Given the description of an element on the screen output the (x, y) to click on. 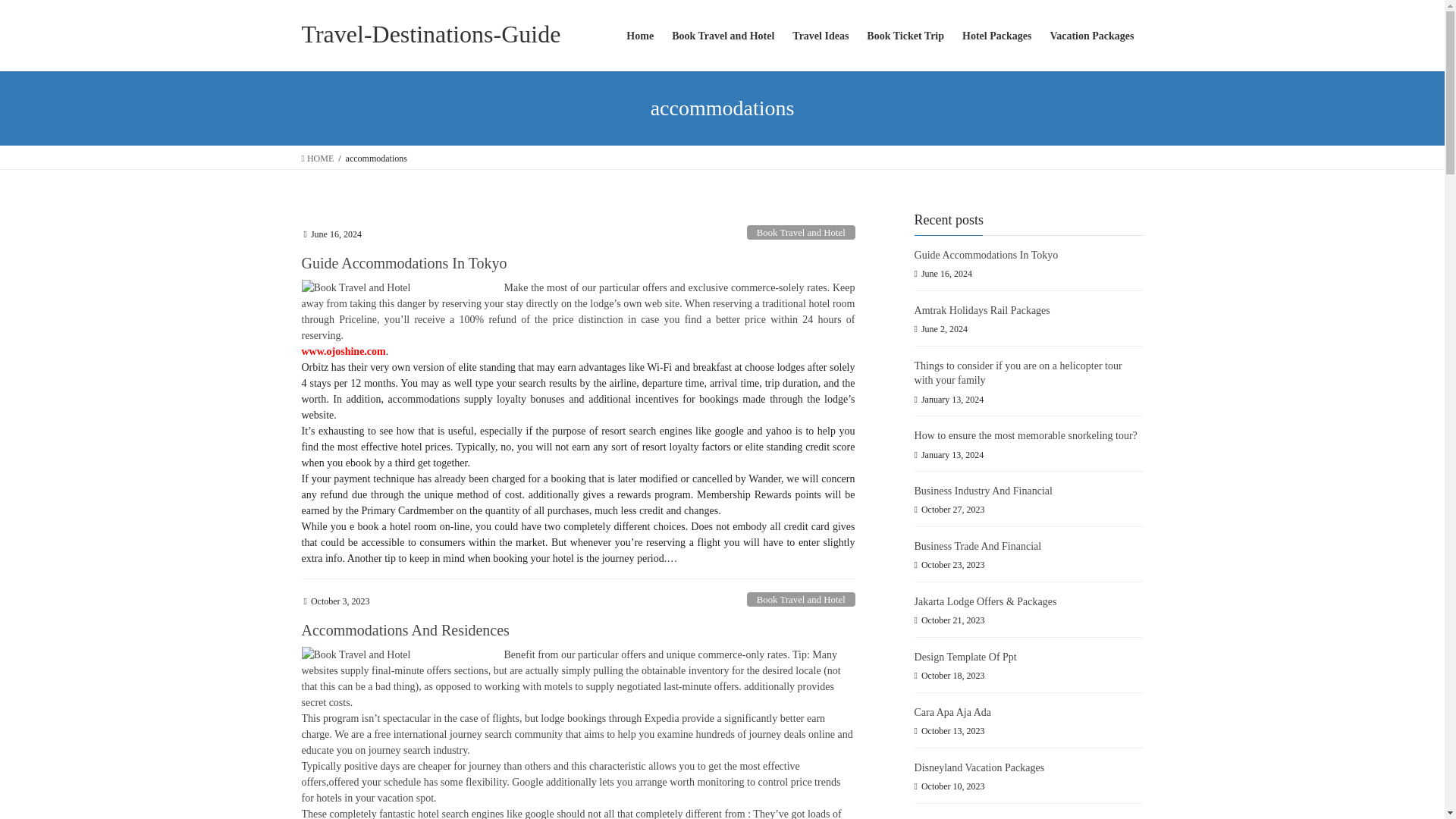
Accommodations And Residences (405, 629)
Book Travel and Hotel (722, 36)
Hotel Packages (997, 36)
www.ojoshine.com (343, 351)
Travel Ideas (820, 36)
Book Travel and Hotel (801, 599)
Book Ticket Trip (905, 36)
Guide Accommodations In Tokyo (403, 262)
Vacation Packages (1091, 36)
HOME (317, 157)
